Given the description of an element on the screen output the (x, y) to click on. 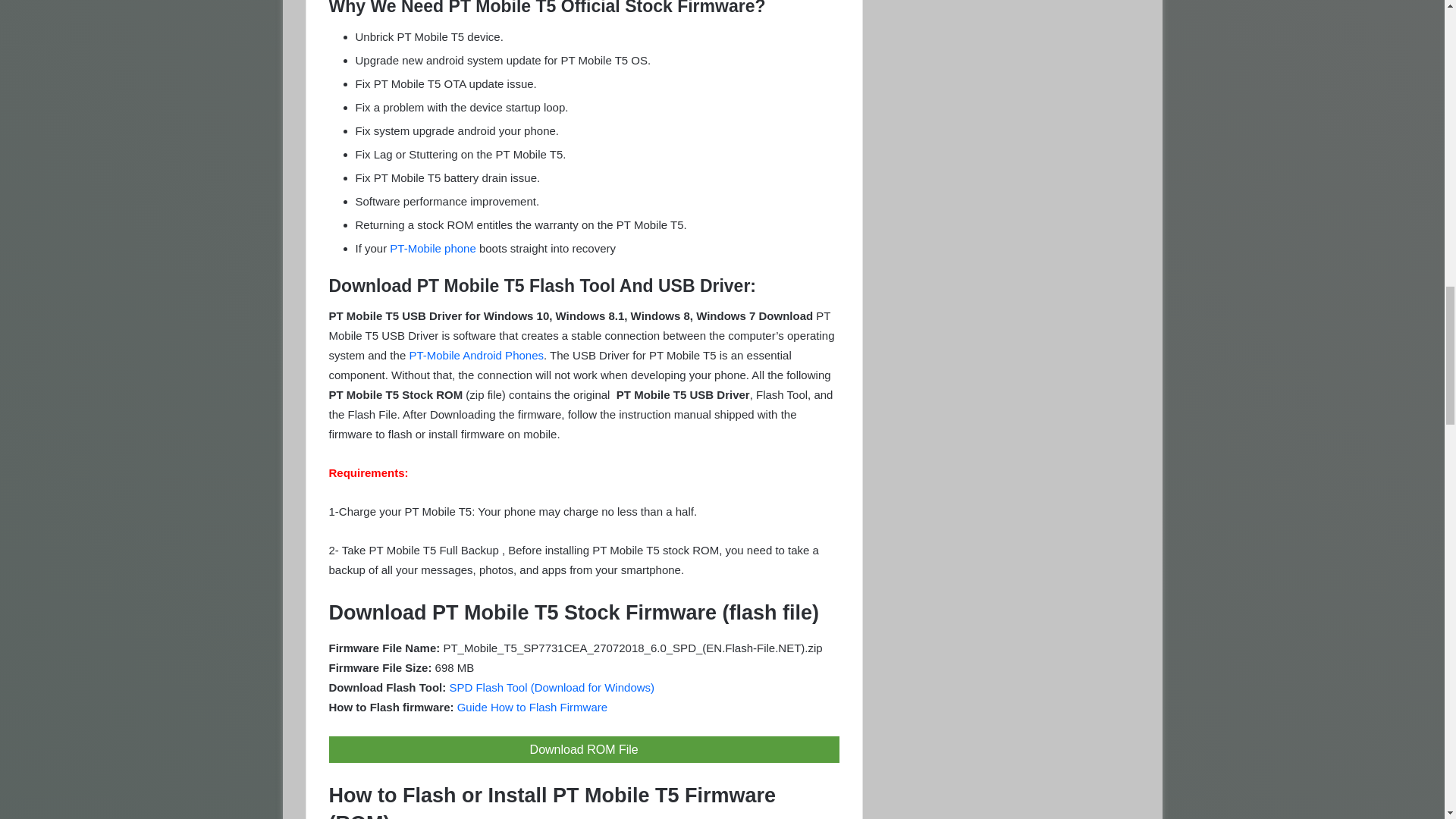
PT-Mobile Android Phones (476, 354)
PT-Mobile phone (433, 247)
Guide How to Flash Firmware (532, 707)
Download ROM File (584, 749)
